Given the description of an element on the screen output the (x, y) to click on. 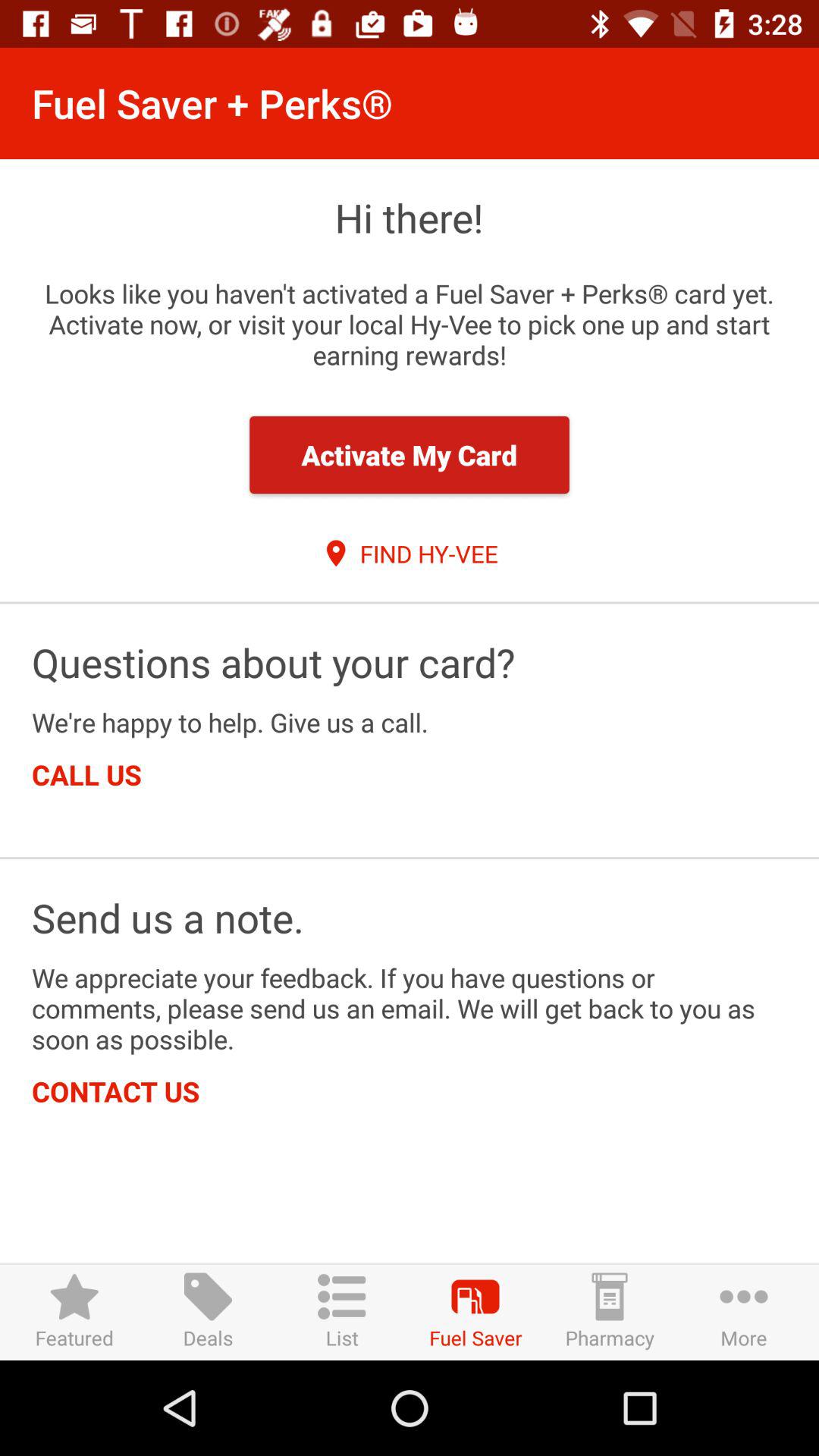
click icon next to the fuel saver icon (341, 1311)
